Given the description of an element on the screen output the (x, y) to click on. 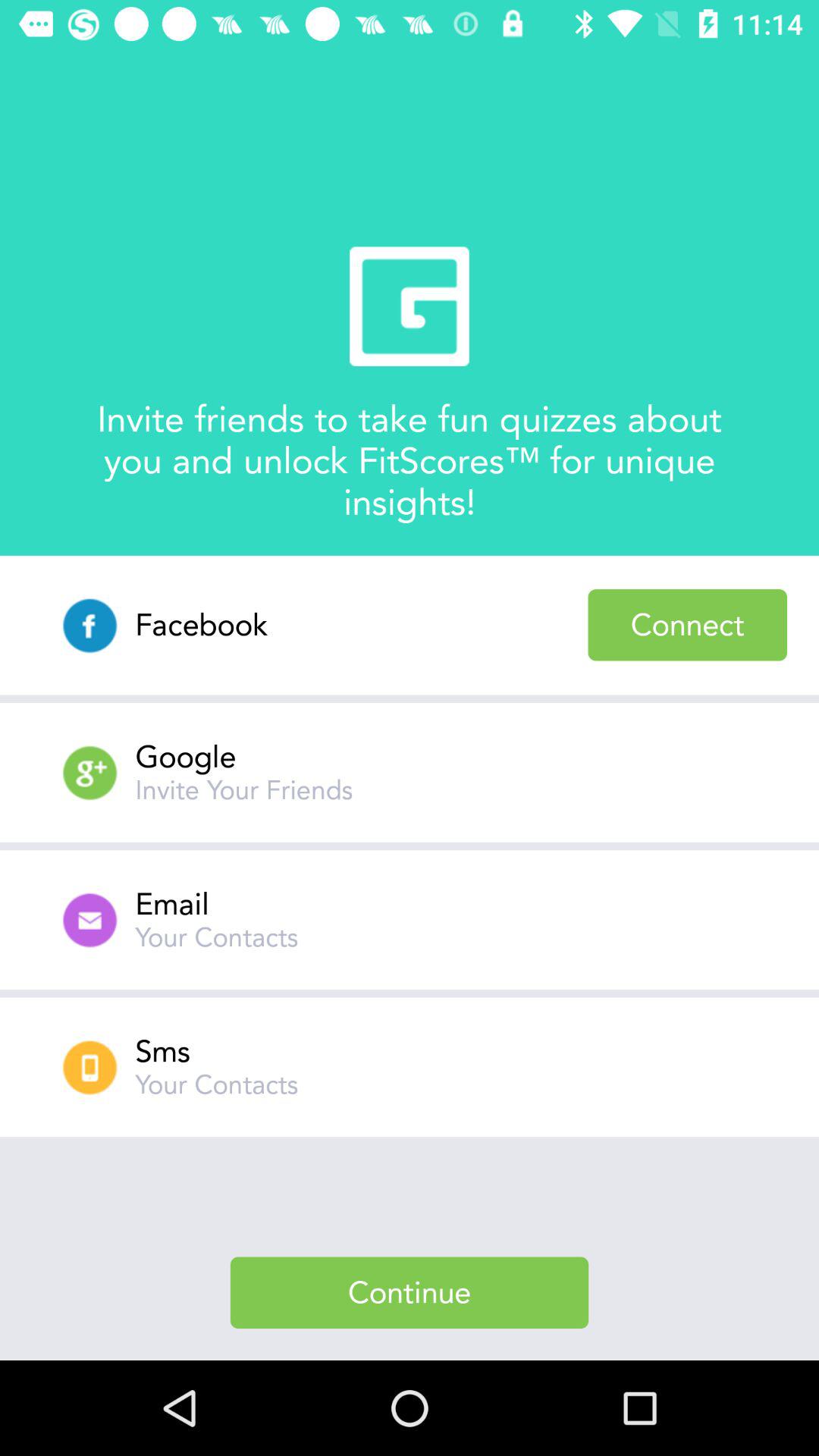
turn on the connect on the right (687, 624)
